Given the description of an element on the screen output the (x, y) to click on. 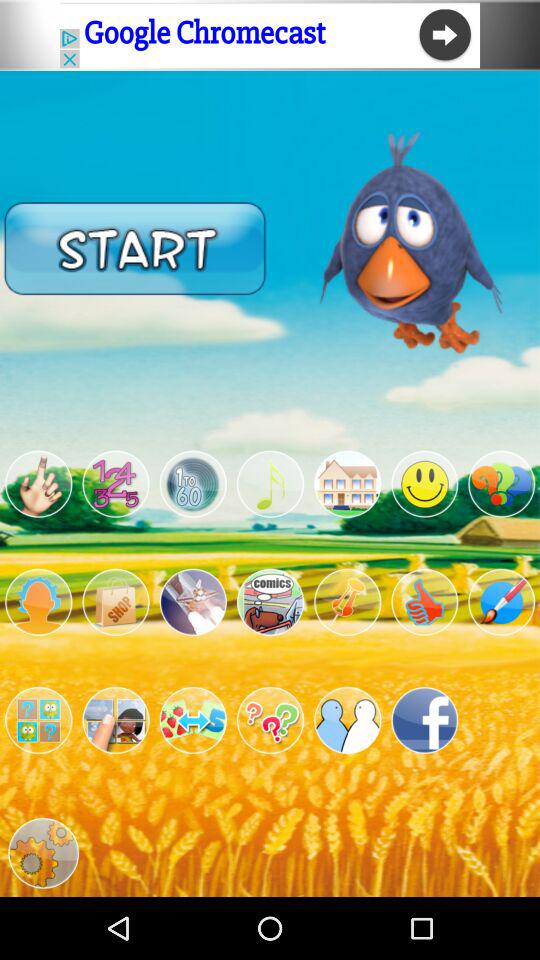
select app (501, 602)
